Given the description of an element on the screen output the (x, y) to click on. 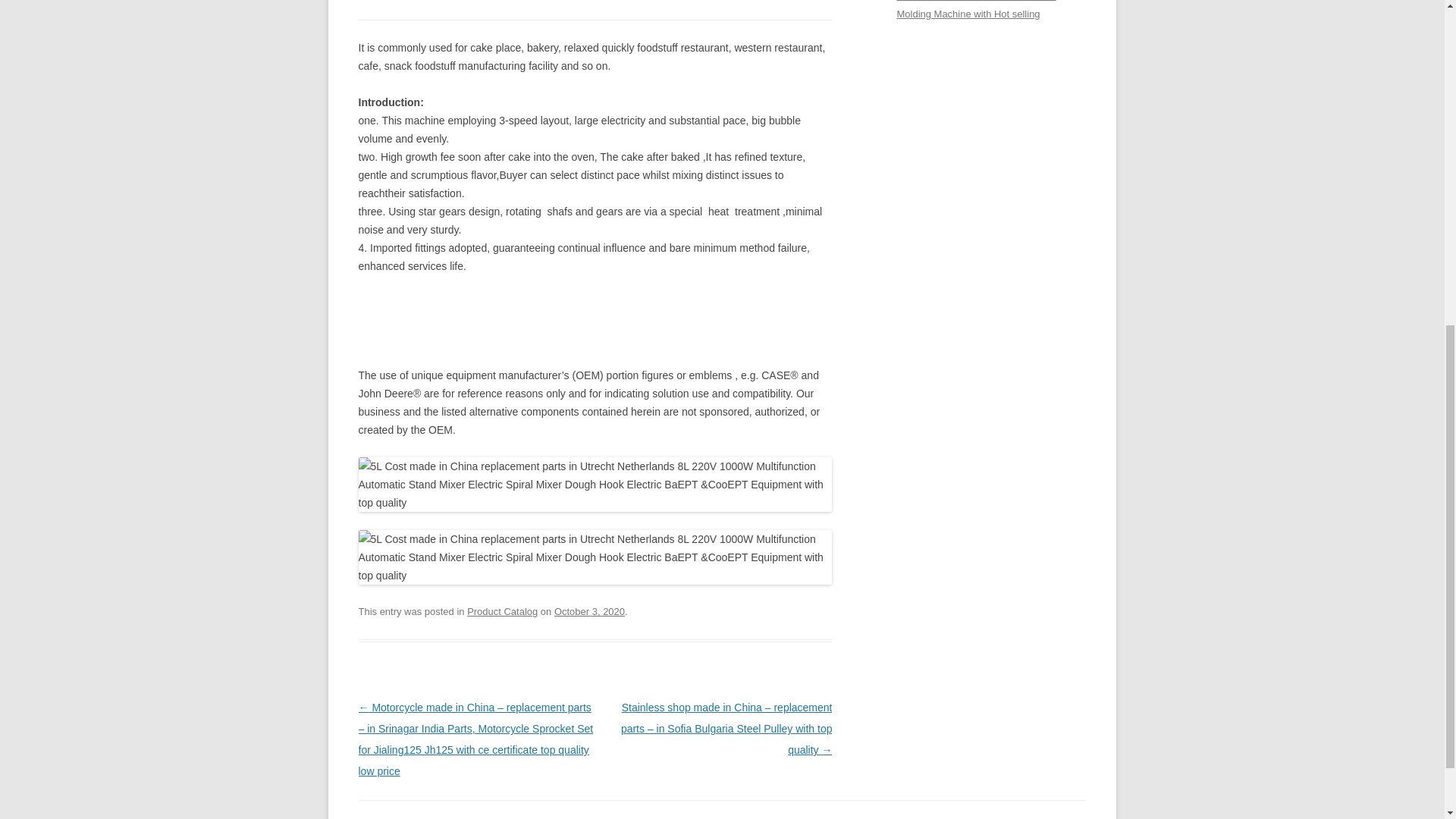
October 3, 2020 (589, 611)
3:36 am (589, 611)
Product Catalog (502, 611)
